Given the description of an element on the screen output the (x, y) to click on. 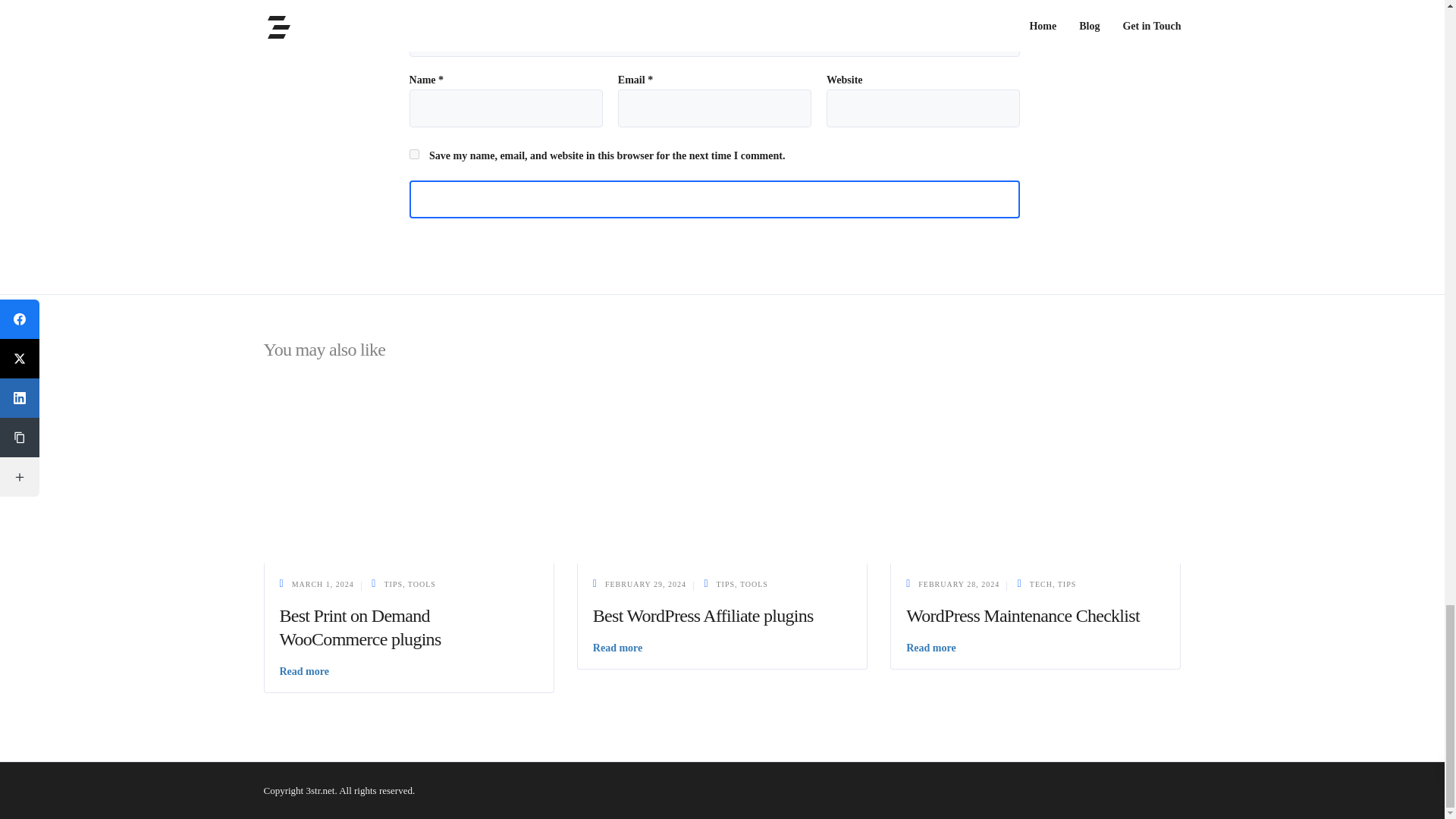
Best Print on Demand WooCommerce plugins (360, 627)
MARCH 1, 2024 (322, 583)
Post Comment (714, 199)
yes (414, 153)
Best Print on Demand WooCommerce plugins (408, 472)
TIPS (393, 583)
Best WordPress Affiliate plugins (702, 615)
Best WordPress Affiliate plugins (721, 472)
Best WordPress Affiliate plugins (645, 583)
Best Print on Demand WooCommerce plugins (360, 627)
